Given the description of an element on the screen output the (x, y) to click on. 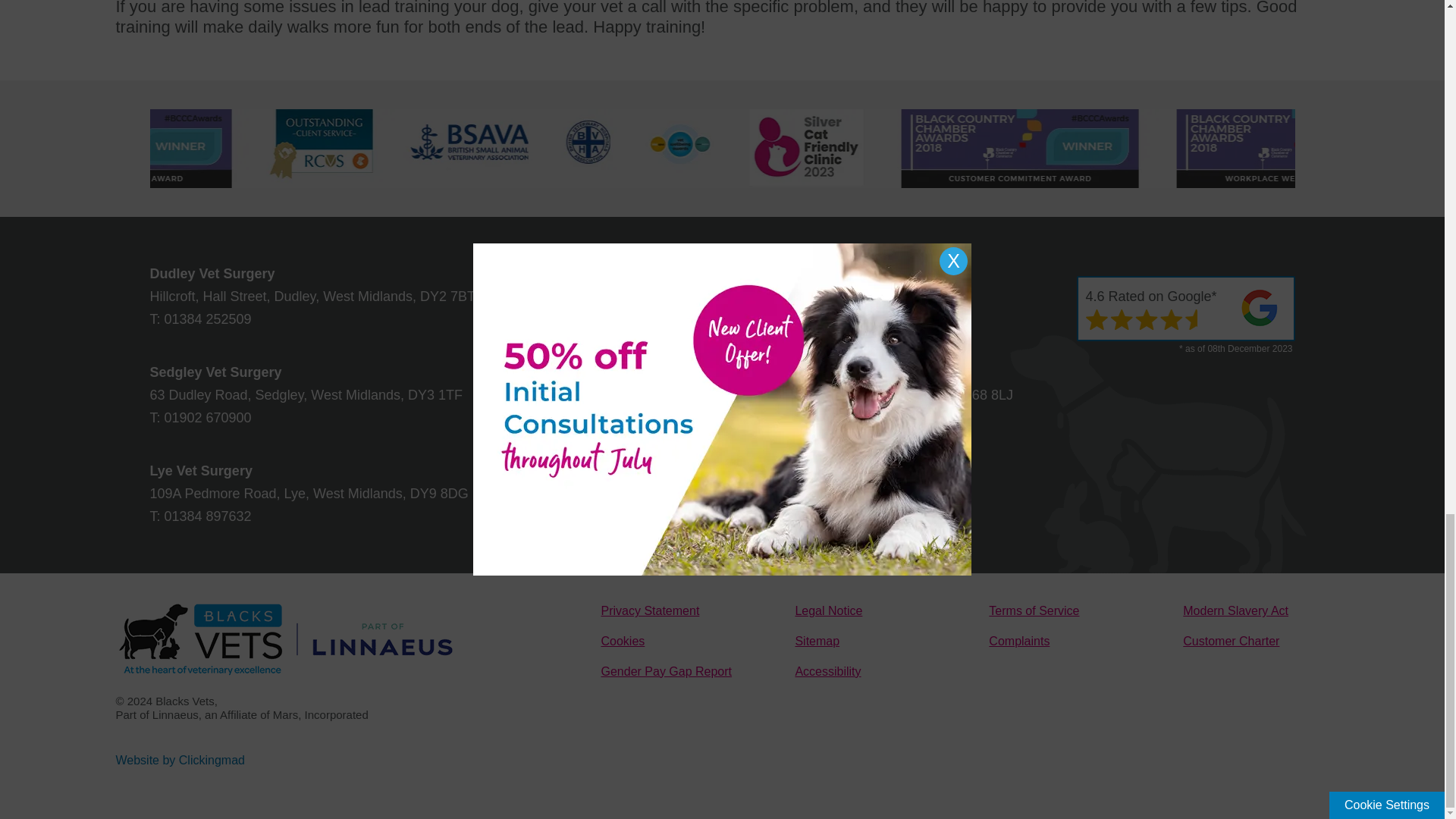
Website Development by Clickingmad (179, 759)
